Given the description of an element on the screen output the (x, y) to click on. 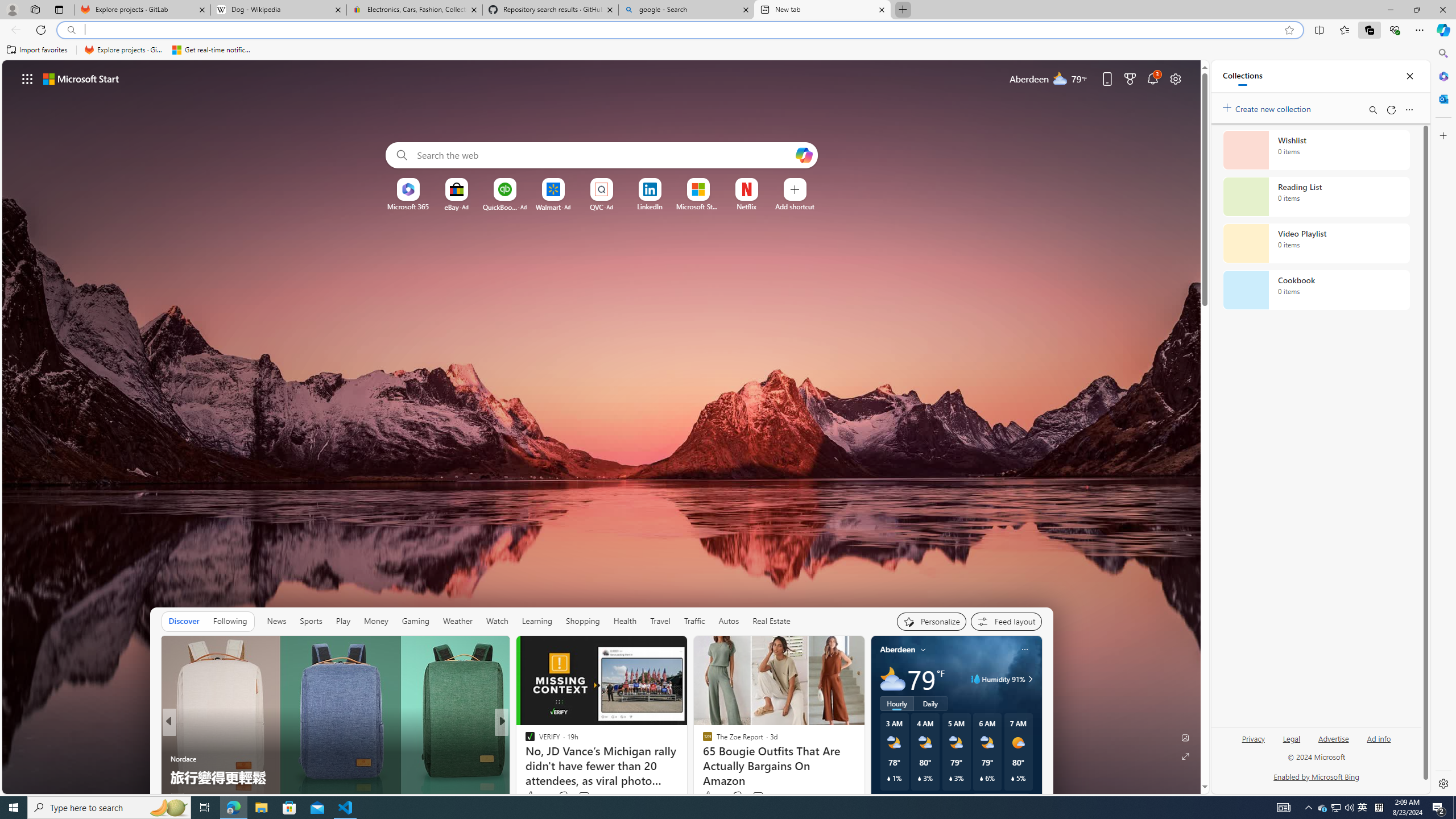
App launcher (27, 78)
Fadeaway World (524, 740)
Watch (496, 621)
InStyle (524, 740)
My location (922, 649)
More options menu (1409, 109)
